Given the description of an element on the screen output the (x, y) to click on. 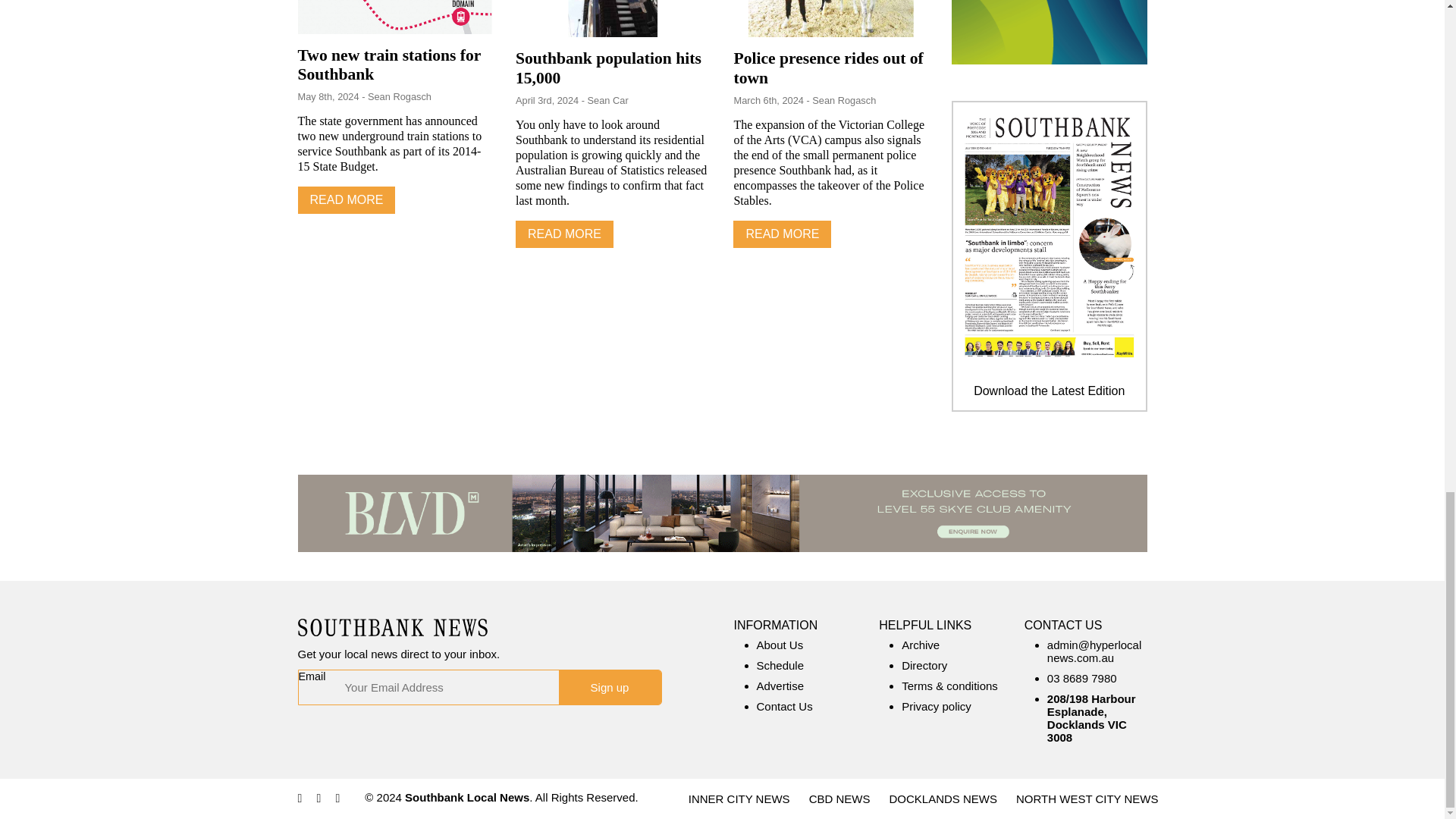
Southbank population hits 15,000 (608, 67)
READ MORE (345, 199)
About Us (780, 644)
READ MORE (563, 234)
Sign up (609, 687)
Schedule (781, 665)
Police presence rides out of town (828, 67)
READ MORE (782, 234)
Advertise (781, 685)
Two new train stations for Southbank (388, 64)
